Given the description of an element on the screen output the (x, y) to click on. 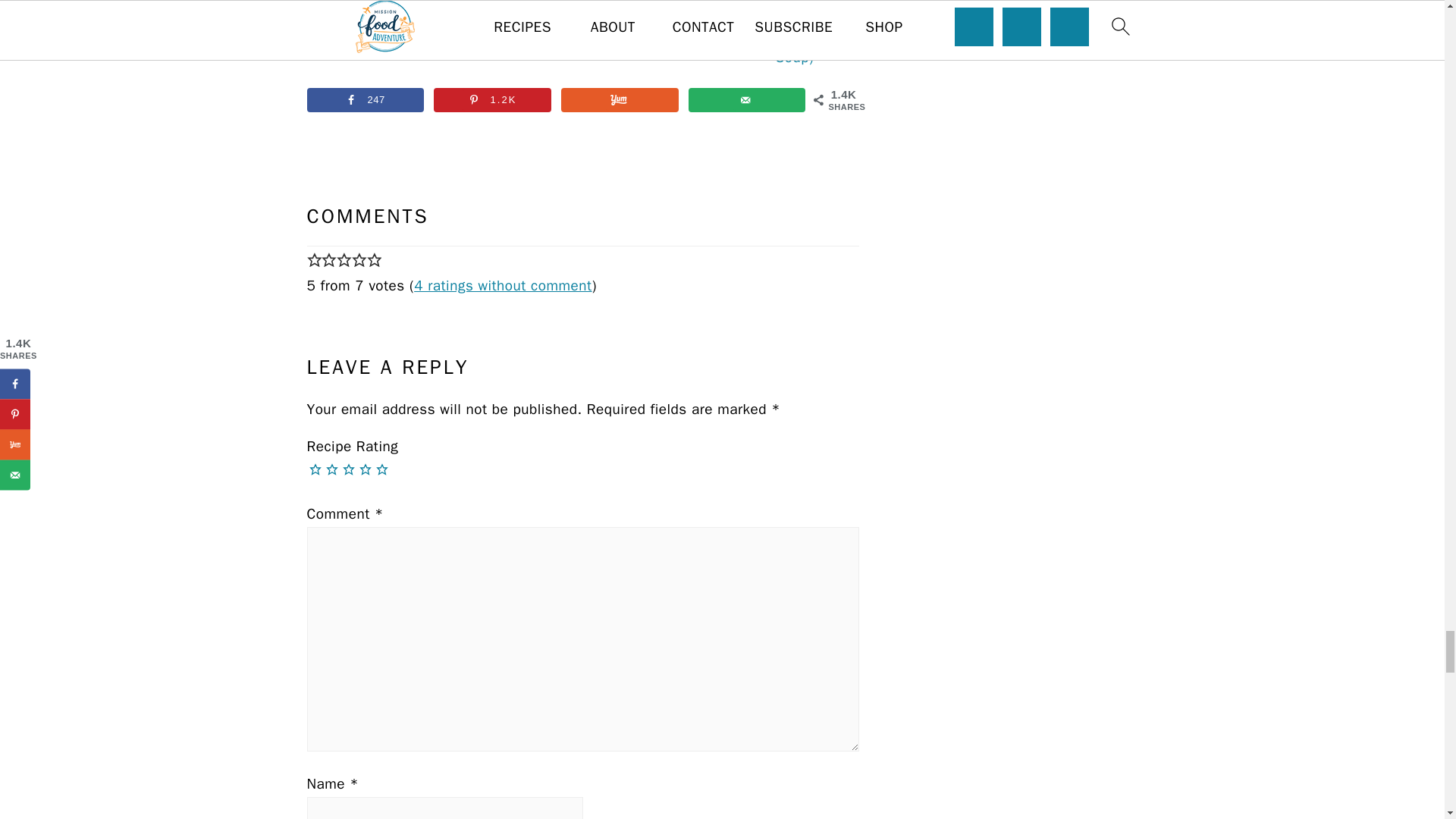
Send over email (747, 99)
Share on Facebook (364, 99)
Save to Pinterest (492, 99)
Share on Yummly (619, 99)
